Given the description of an element on the screen output the (x, y) to click on. 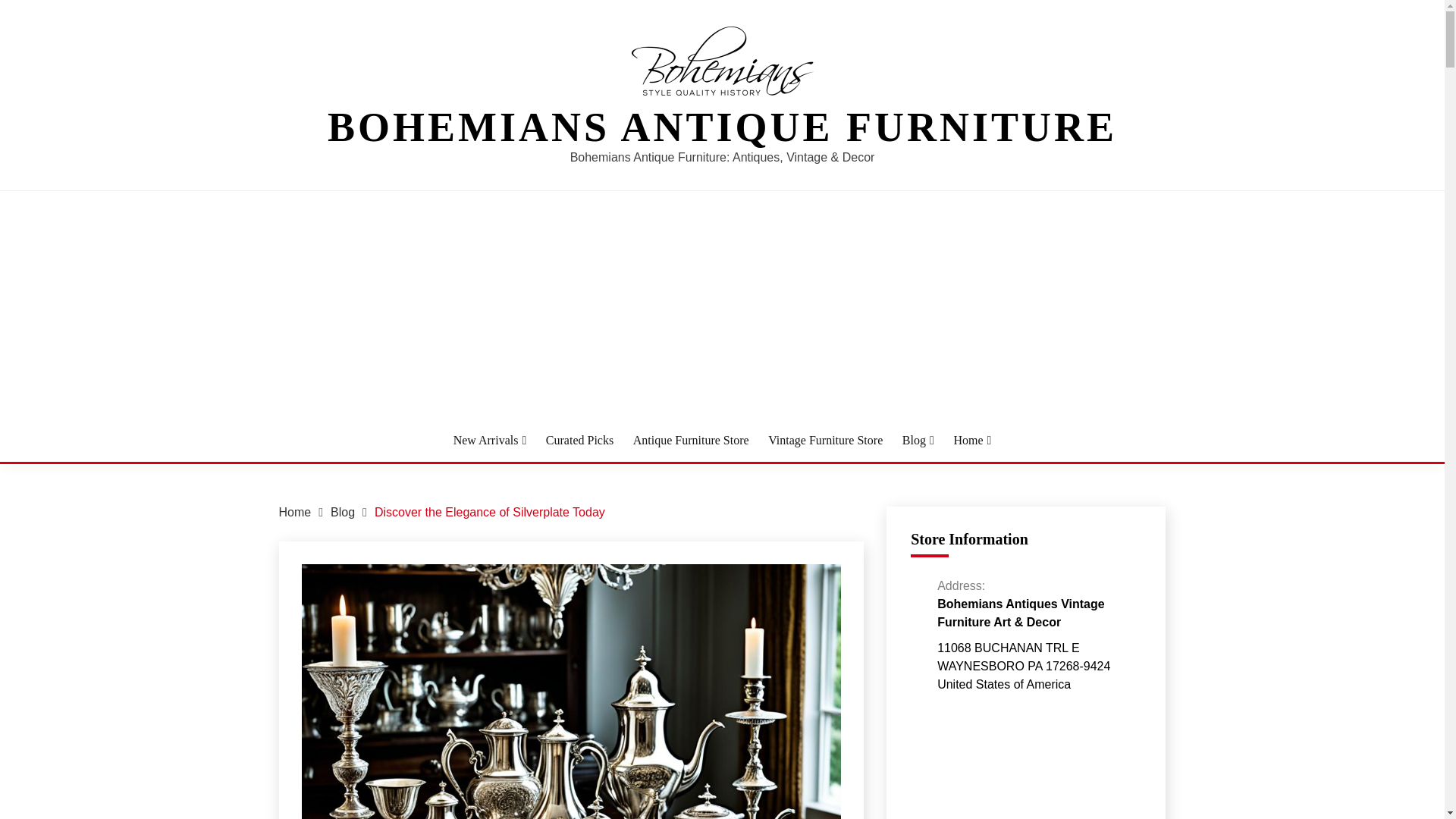
Discover the Elegance of Silverplate Today (489, 512)
Antique Furniture Store (691, 439)
Home (295, 512)
Blog (342, 512)
Home (972, 439)
New Arrivals (489, 439)
Blog (918, 439)
Vintage Furniture Store (825, 439)
